Given the description of an element on the screen output the (x, y) to click on. 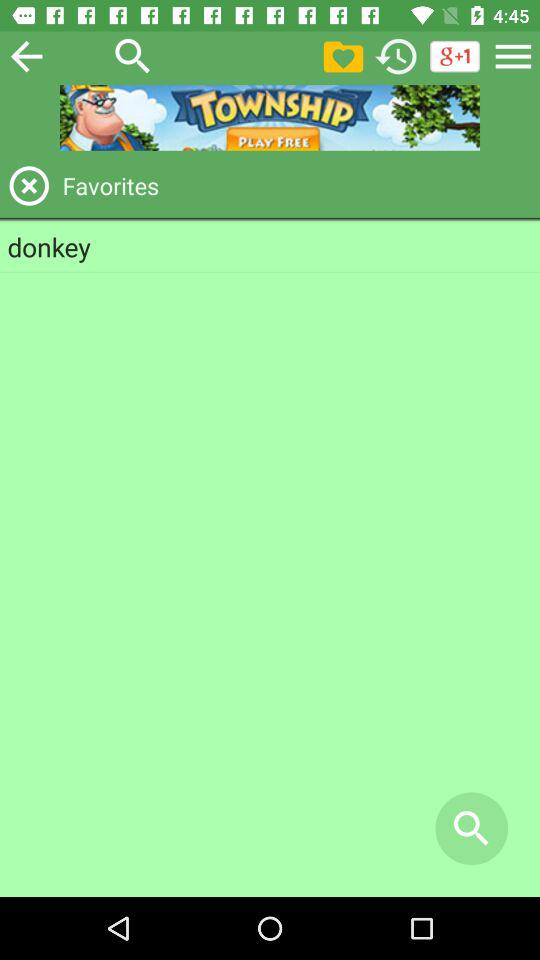
search what we want (133, 56)
